Given the description of an element on the screen output the (x, y) to click on. 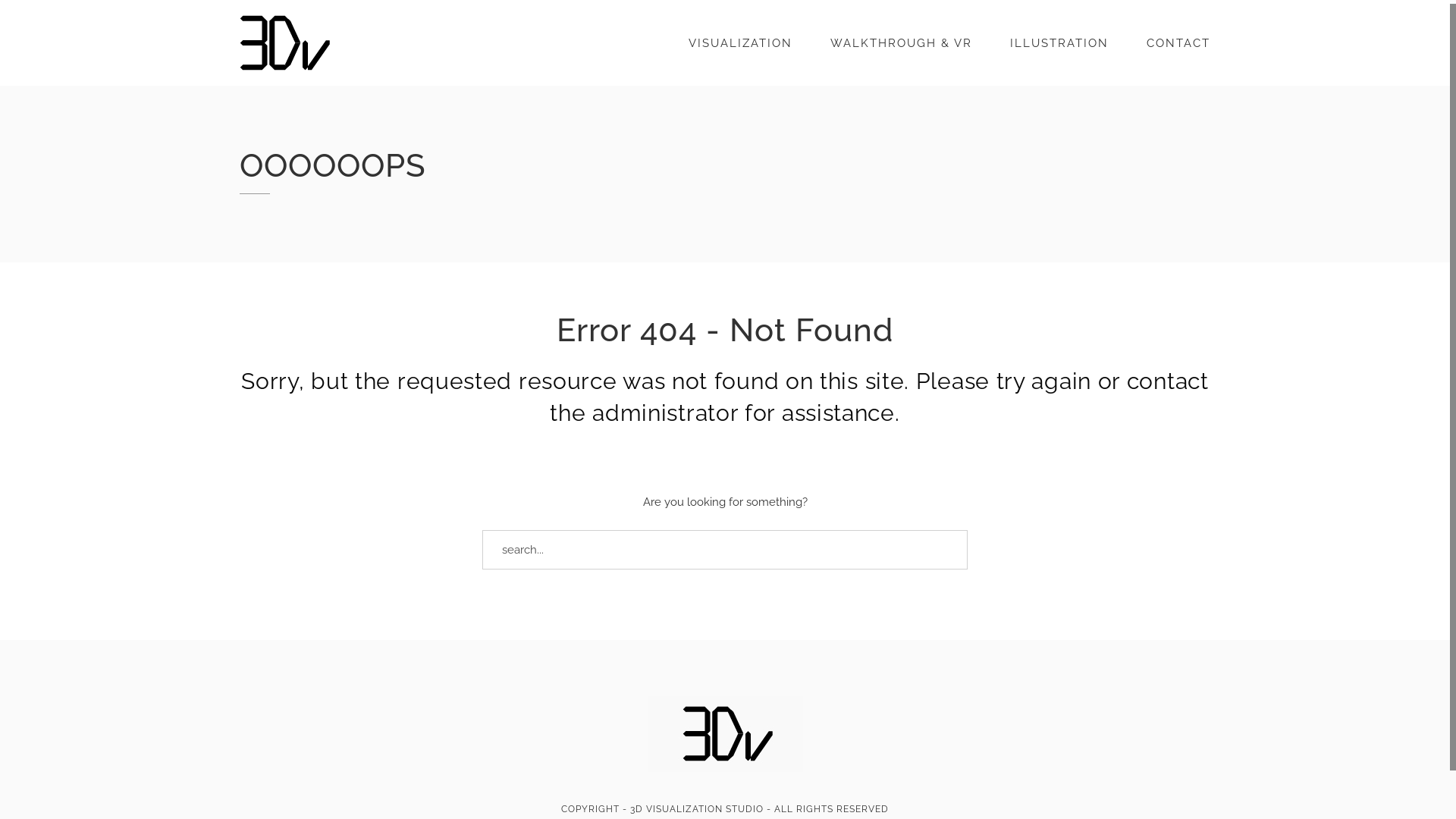
3D Visualization Studio Element type: hover (284, 42)
CONTACT Element type: text (1178, 42)
Search for: Element type: hover (724, 549)
3D Visualization Studio Element type: hover (725, 768)
VISUALIZATION Element type: text (740, 42)
ILLUSTRATION Element type: text (1059, 42)
WALKTHROUGH & VR Element type: text (901, 42)
